Given the description of an element on the screen output the (x, y) to click on. 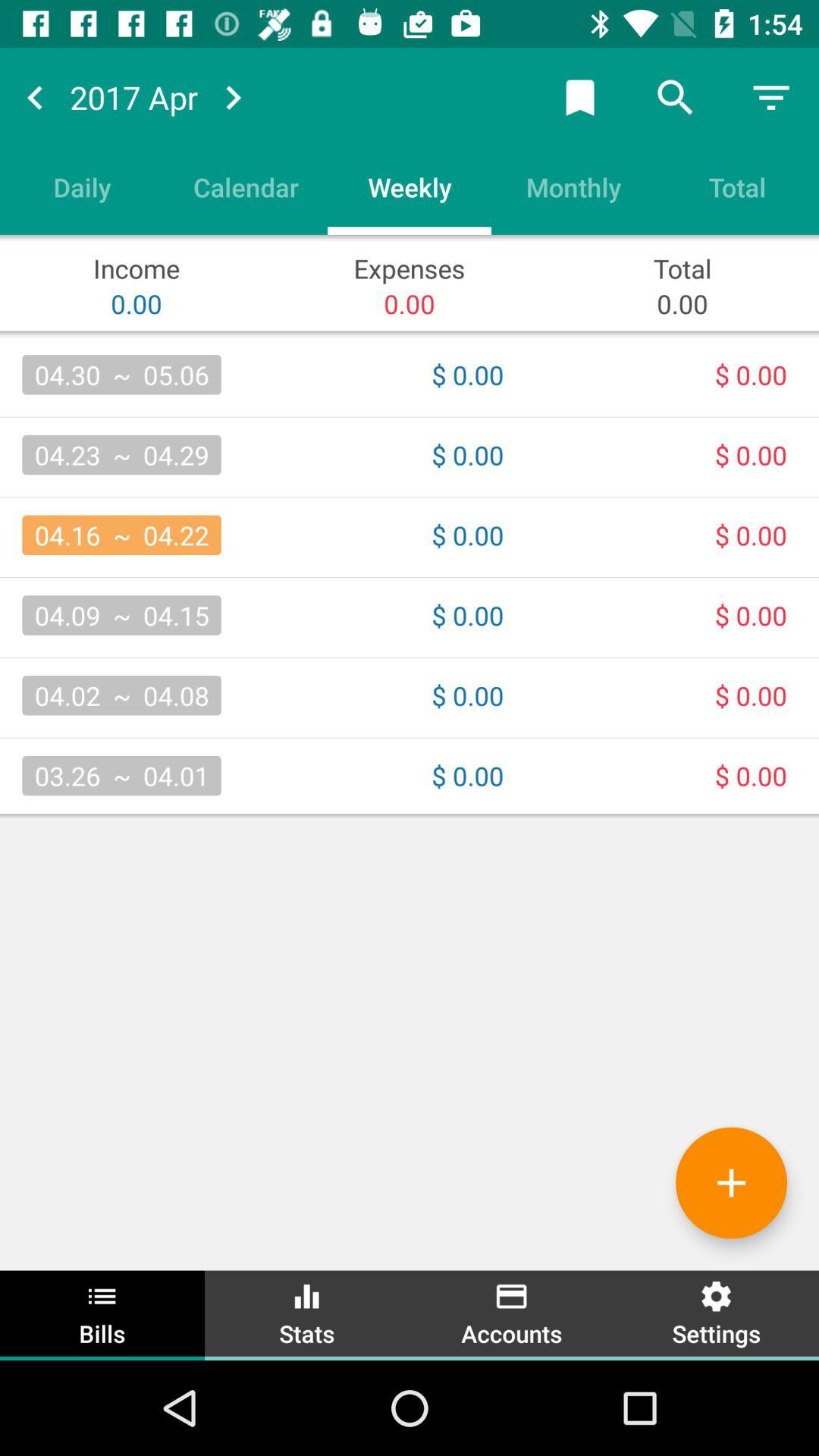
click item to the left of the weekly item (245, 186)
